Given the description of an element on the screen output the (x, y) to click on. 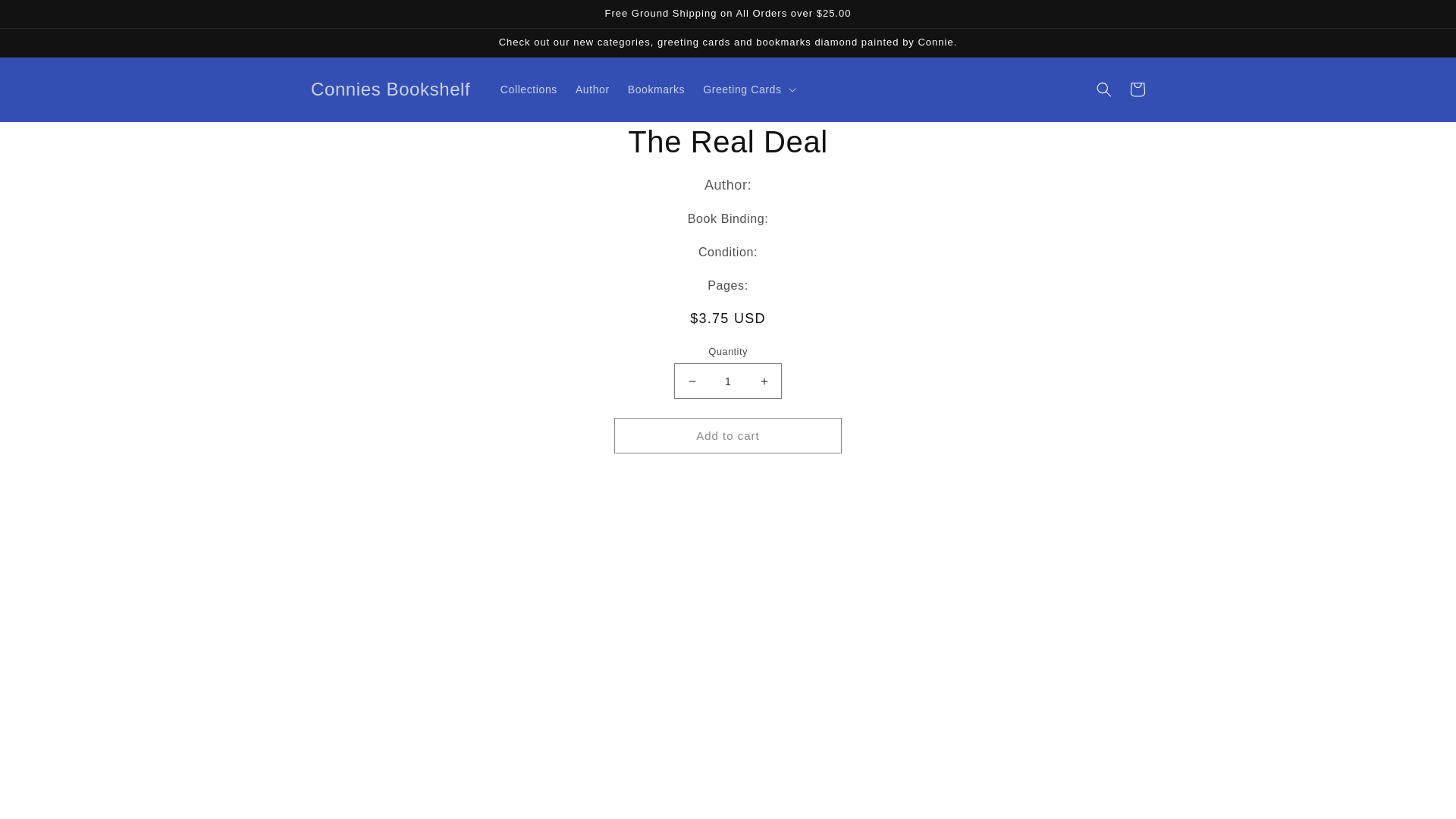
Add to cart (727, 435)
Skip to content (45, 17)
Author (592, 89)
Skip to product information (557, 139)
Increase quantity for The Real Deal (763, 380)
Collections (529, 89)
Decrease quantity for The Real Deal (692, 380)
Bookmarks (656, 89)
Connies Bookshelf (390, 89)
Cart (1137, 89)
